Given the description of an element on the screen output the (x, y) to click on. 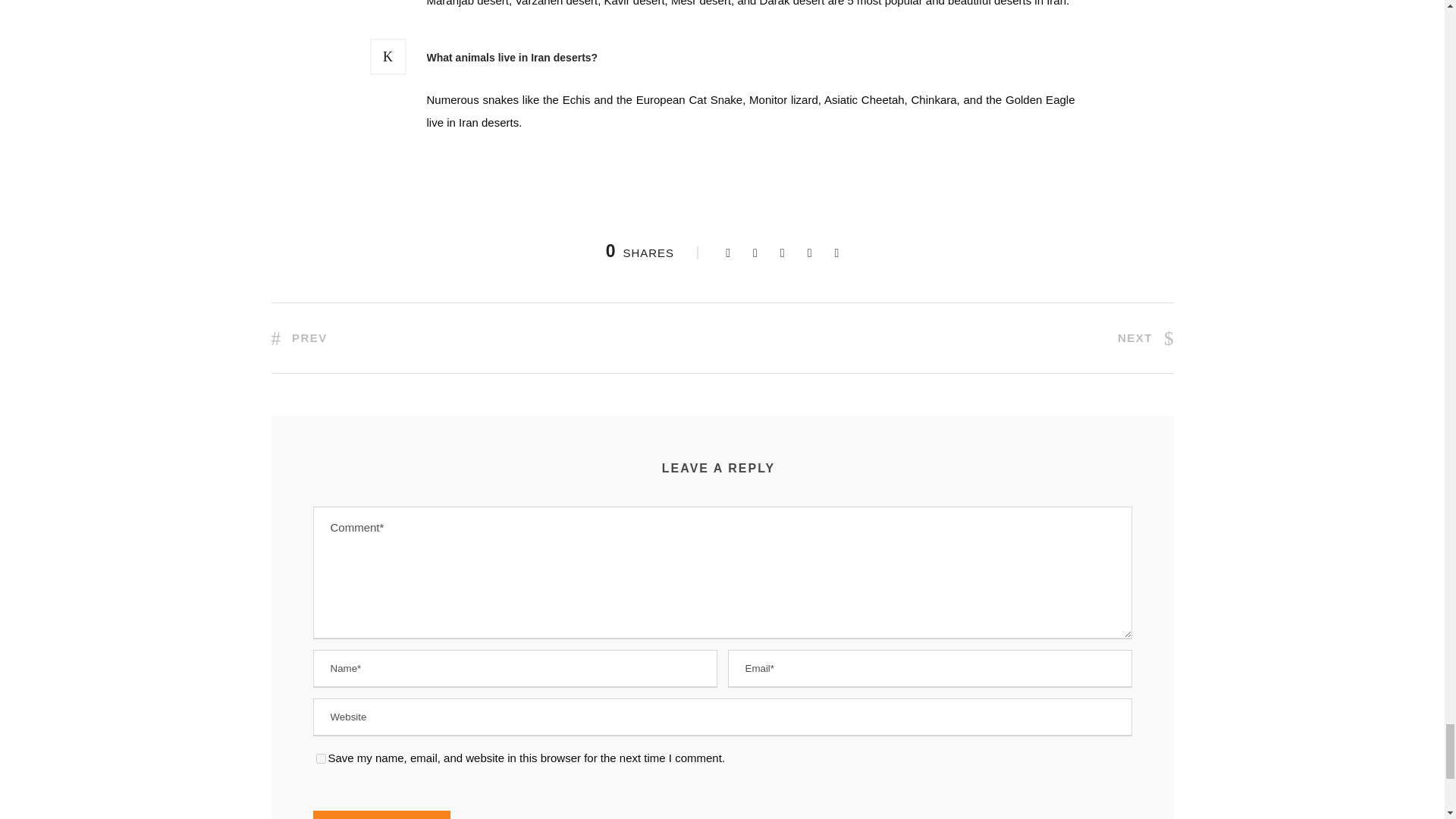
Post Comment (381, 814)
yes (319, 758)
